Given the description of an element on the screen output the (x, y) to click on. 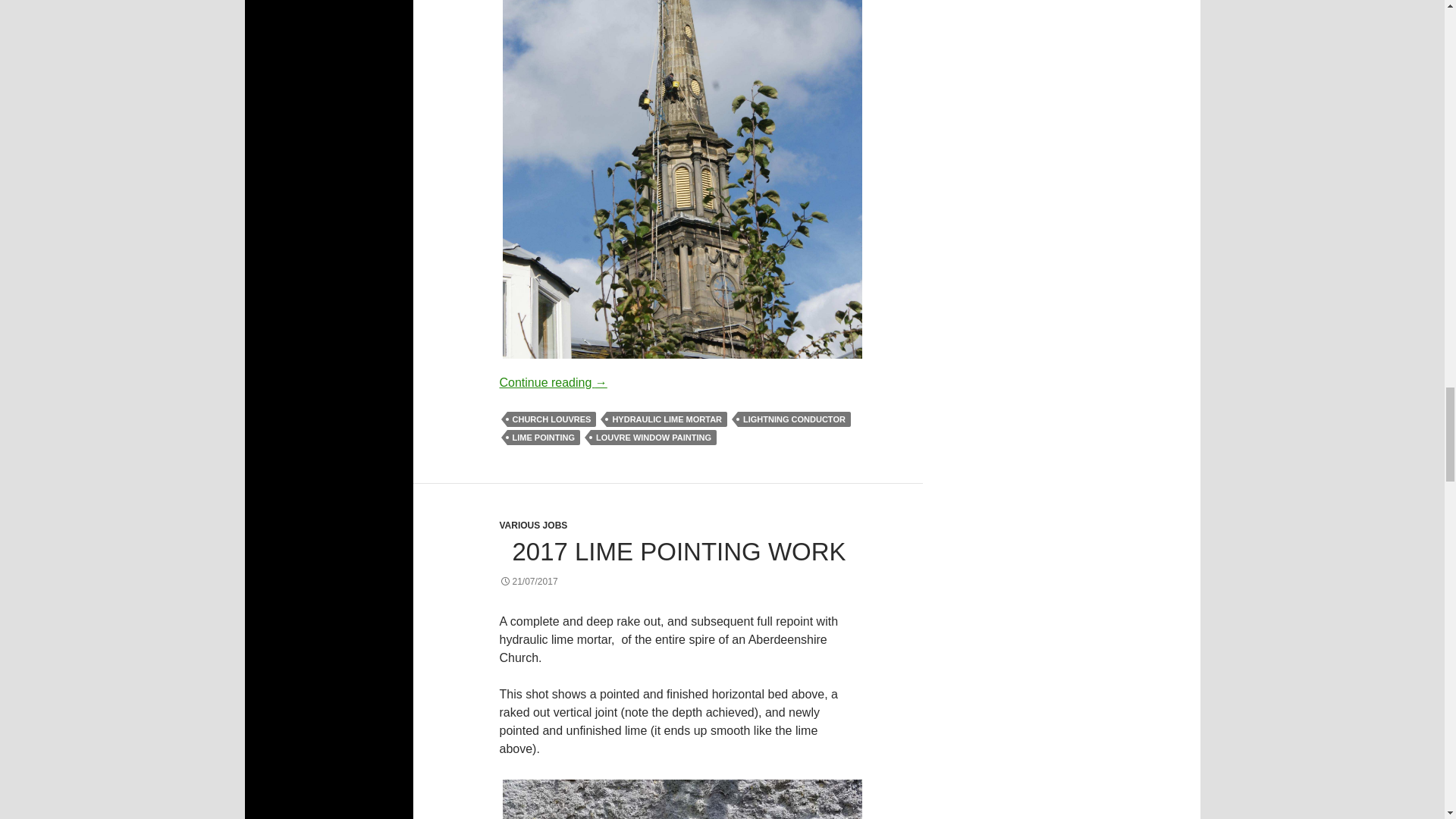
CHURCH LOUVRES (550, 418)
LIME POINTING (542, 437)
LIGHTNING CONDUCTOR (794, 418)
louvre window painting (679, 180)
louvre window painting (681, 180)
HYDRAULIC LIME MORTAR (666, 418)
